Given the description of an element on the screen output the (x, y) to click on. 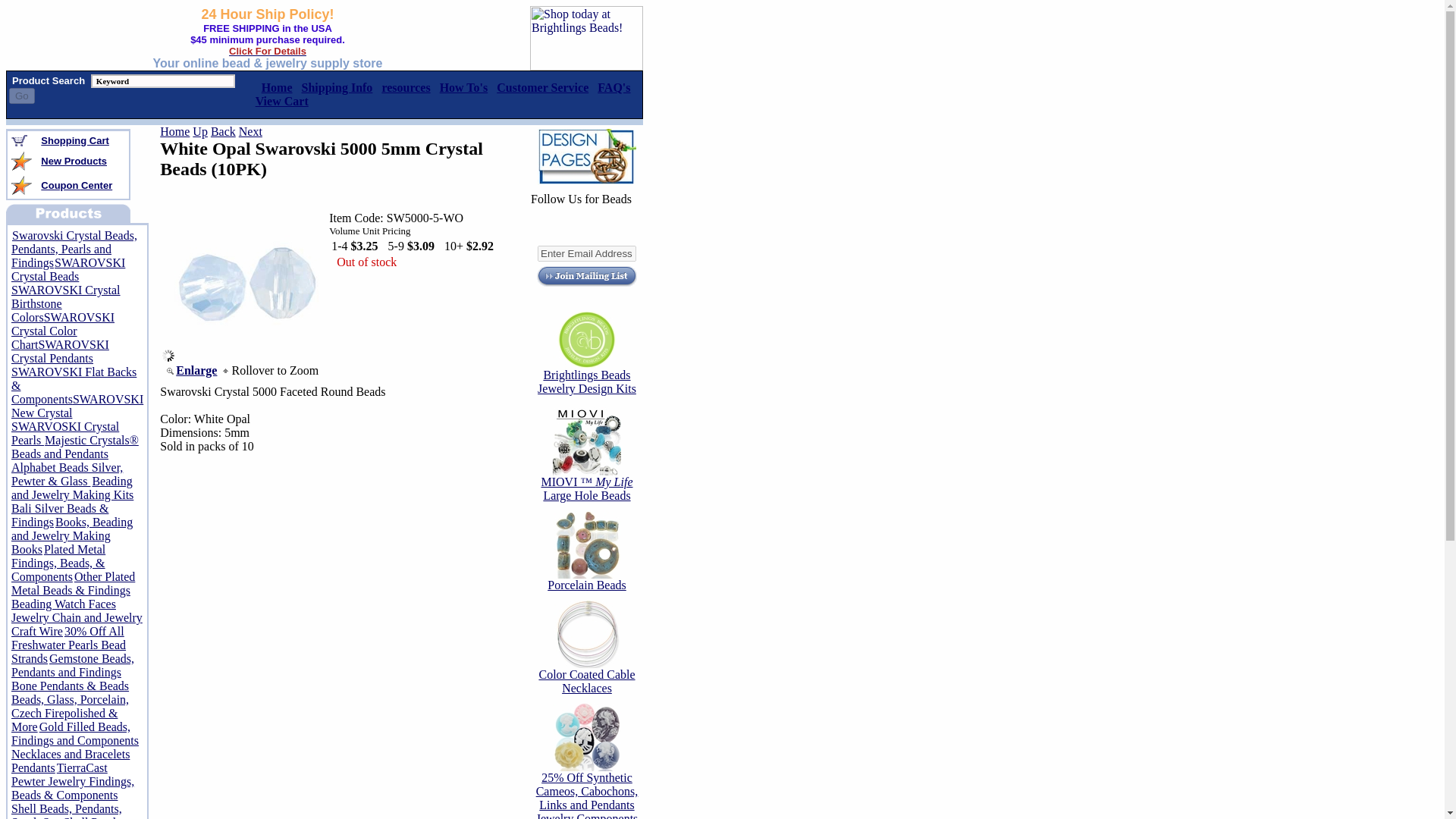
SWAROVSKI Crystal Pendants (60, 351)
Swarovski Crystal Beads, Pendants, Pearls and Findings (73, 249)
How To's (463, 87)
Coupon Center (76, 184)
Shell Beads, Pendants, South Sea Shell Pearls (66, 810)
 Keyword  (162, 80)
SWAROVSKI Crystal Color Chart (63, 331)
Beading and Jewelry Making Kits (72, 488)
SWAROVSKI Crystal Beads (68, 269)
Click For Details (266, 50)
Gold Filled Beads, Findings and Components (74, 733)
Roll Off Image to Close Zoom Window (250, 357)
SWAROVSKI New Crystal (76, 406)
Pendants (33, 767)
Enter Email Address (586, 253)
